Given the description of an element on the screen output the (x, y) to click on. 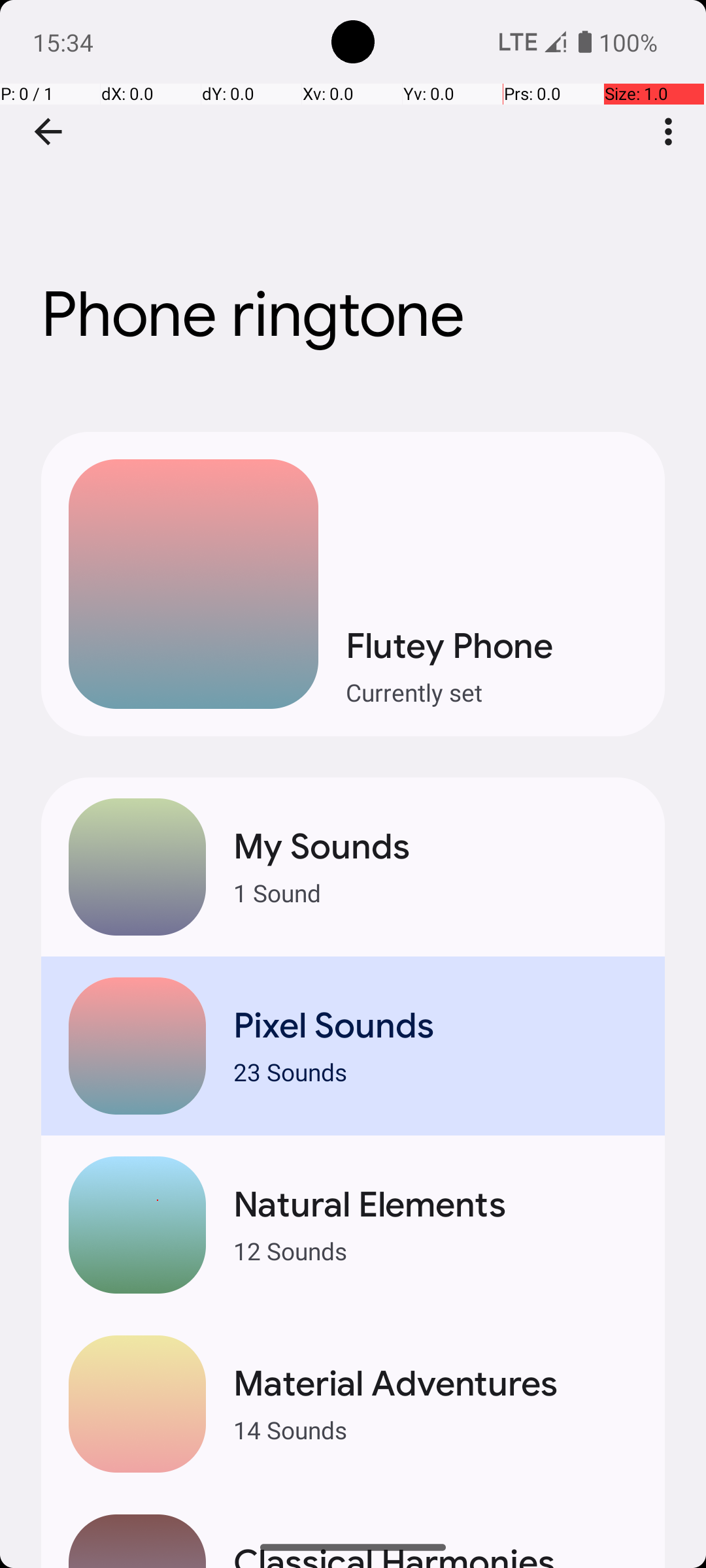
Currently set Element type: android.widget.TextView (491, 691)
My Sounds Element type: android.widget.TextView (435, 846)
1 Sound Element type: android.widget.TextView (435, 892)
Pixel Sounds Element type: android.widget.TextView (435, 1025)
23 Sounds Element type: android.widget.TextView (435, 1071)
Natural Elements Element type: android.widget.TextView (435, 1204)
Material Adventures Element type: android.widget.TextView (435, 1383)
14 Sounds Element type: android.widget.TextView (435, 1429)
